Given the description of an element on the screen output the (x, y) to click on. 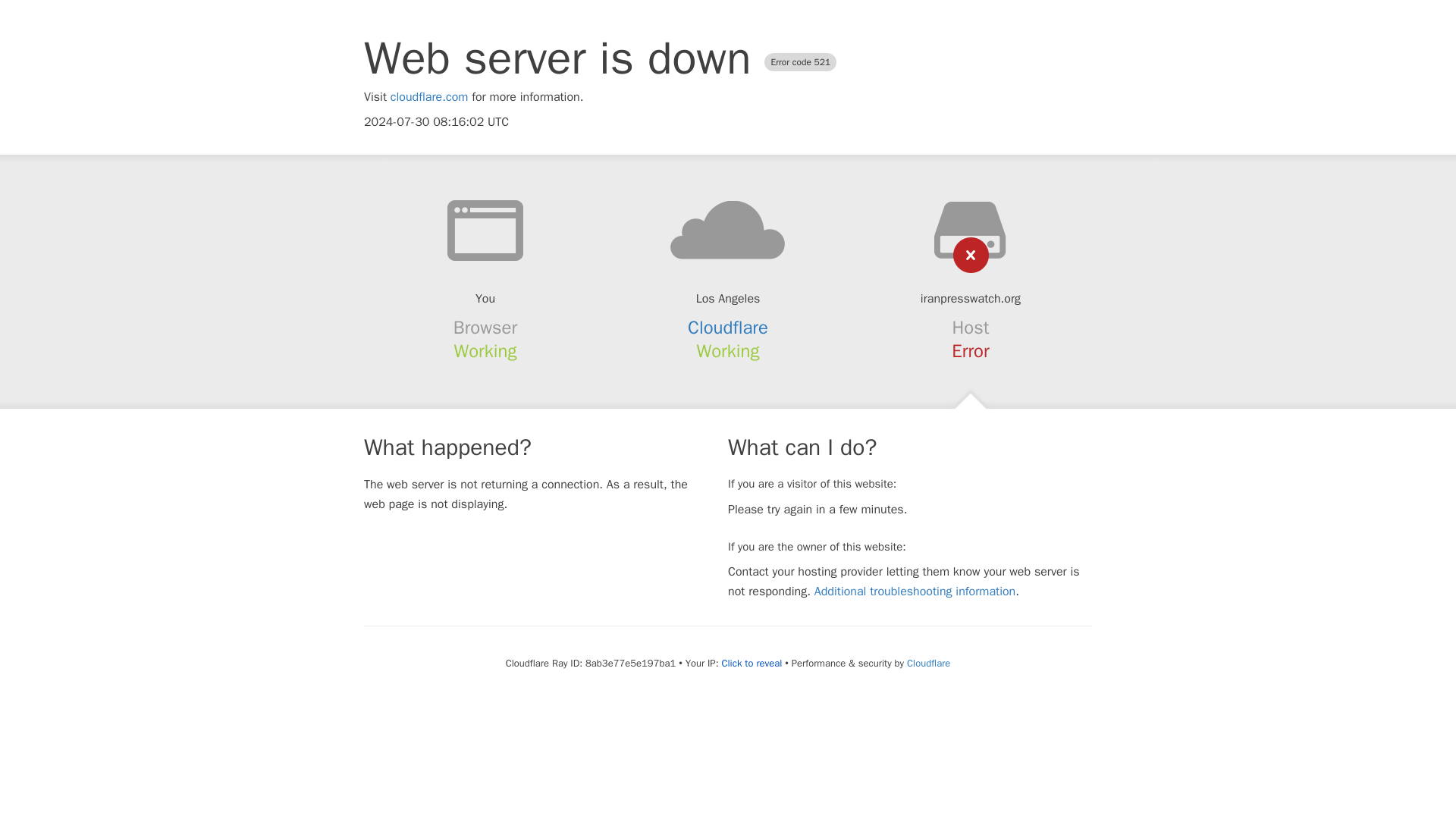
Cloudflare (928, 662)
cloudflare.com (429, 96)
Click to reveal (750, 663)
Additional troubleshooting information (913, 590)
Cloudflare (727, 327)
